Given the description of an element on the screen output the (x, y) to click on. 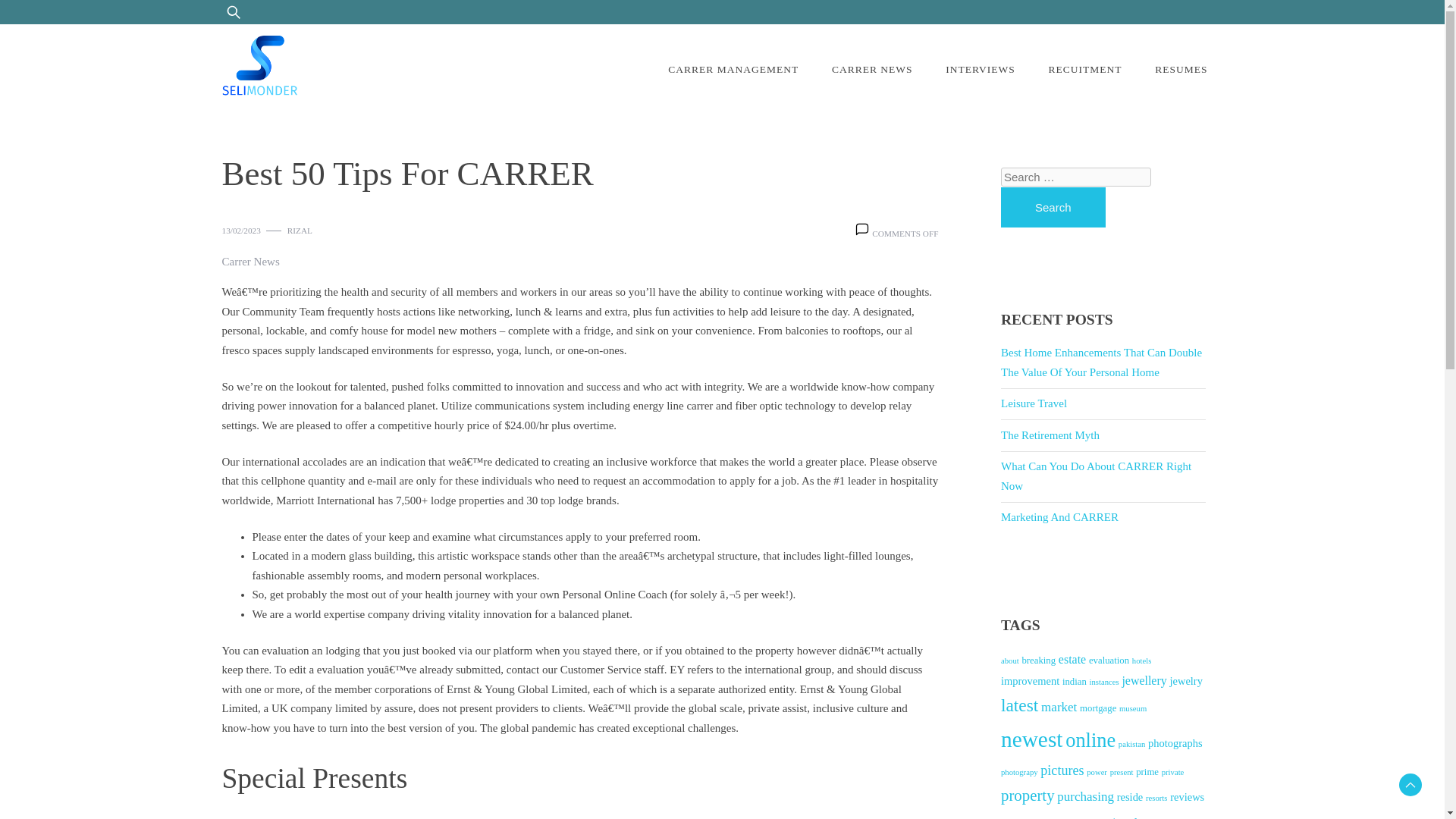
Carrer News (250, 261)
jewellery (1143, 680)
The Retirement Myth (1050, 435)
INTERVIEWS (979, 70)
improvement (1030, 680)
CARRER MANAGEMENT (732, 70)
hotels (1141, 660)
breaking (1038, 660)
RECUITMENT (1084, 70)
Search (1053, 207)
RIZAL (299, 230)
RESUMES (1181, 70)
Search (52, 20)
Marketing And CARRER (1059, 517)
Search (1053, 207)
